Given the description of an element on the screen output the (x, y) to click on. 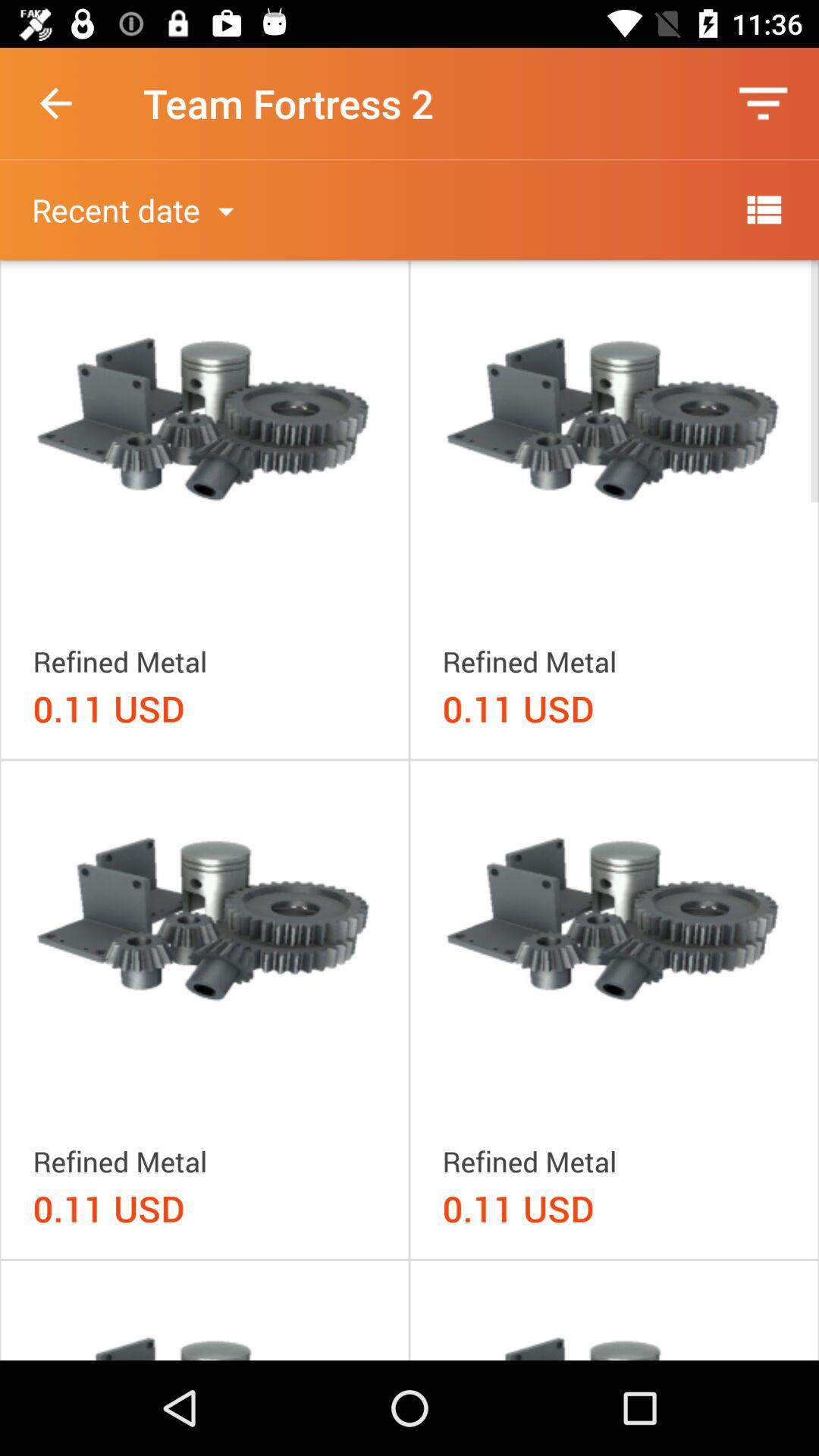
choose the icon to the left of team fortress 2 item (55, 103)
